Given the description of an element on the screen output the (x, y) to click on. 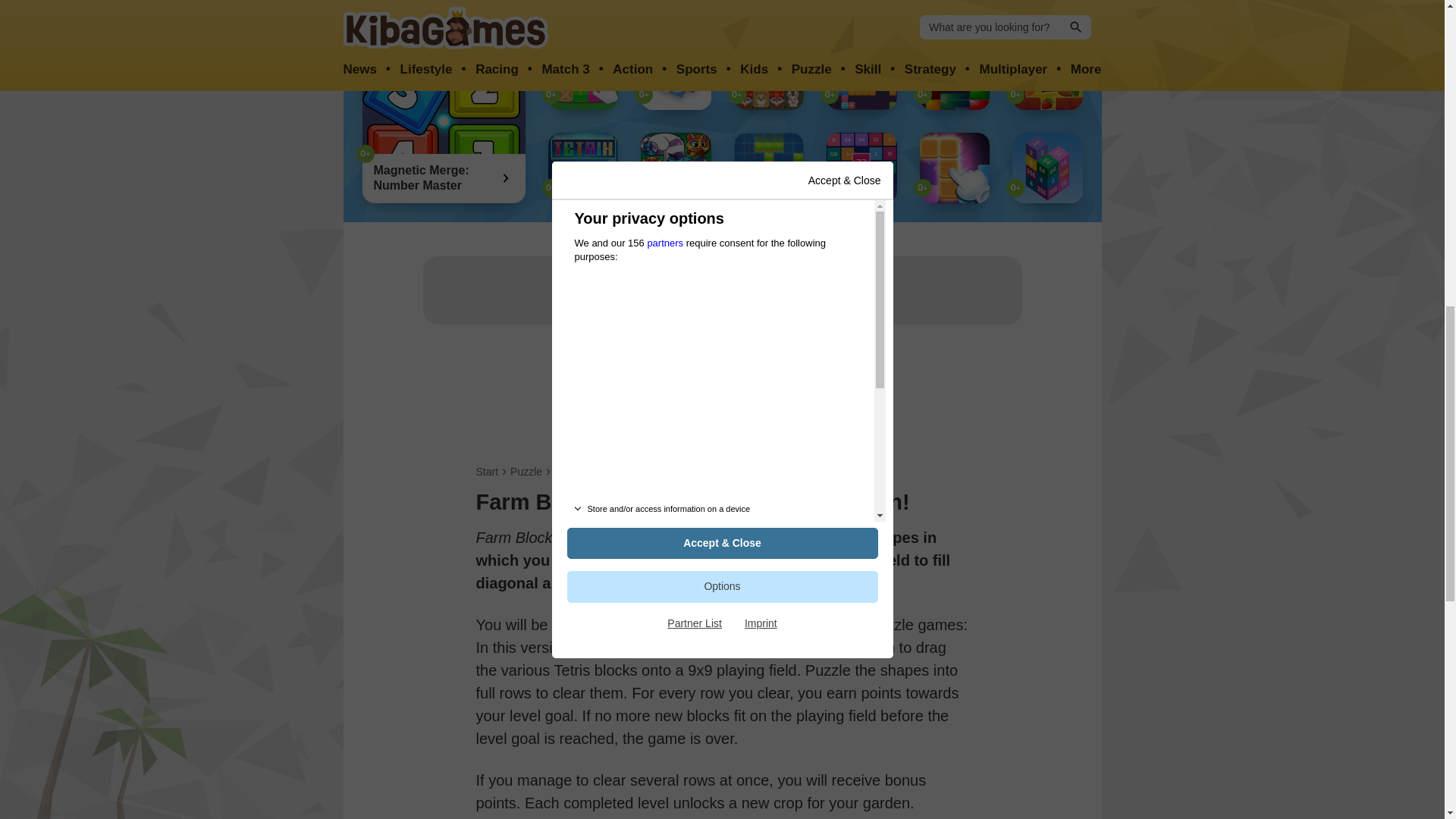
Slide Stone (954, 75)
Nine Blocks: Block Puzzle Game (954, 167)
Puzzle (526, 471)
Tetrix (582, 167)
Block Champ (861, 75)
Start (487, 471)
Magnetic Merge: Number Master (443, 121)
Stacktris 2048 (1047, 167)
Farm Block Puzzle (1047, 75)
Block (566, 471)
